Given the description of an element on the screen output the (x, y) to click on. 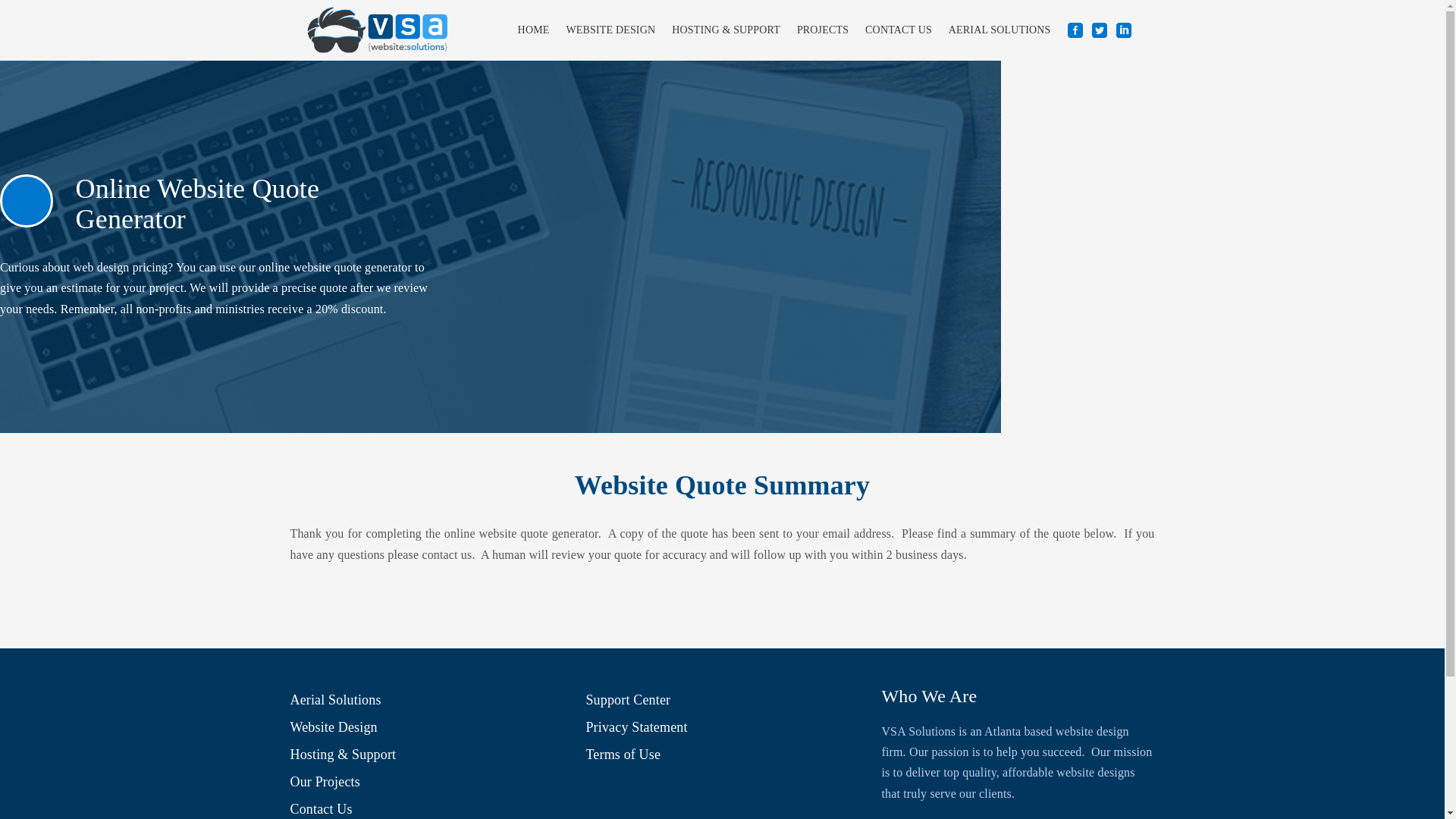
Contact Us (320, 808)
WEBSITE DESIGN (610, 30)
Our Projects (324, 781)
Support Center (627, 699)
Website Design (333, 726)
PROJECTS (823, 30)
Terms of Use (623, 754)
HOME (533, 30)
Privacy Statement (636, 726)
AERIAL SOLUTIONS (999, 30)
CONTACT US (898, 30)
Aerial Solutions (334, 699)
